Given the description of an element on the screen output the (x, y) to click on. 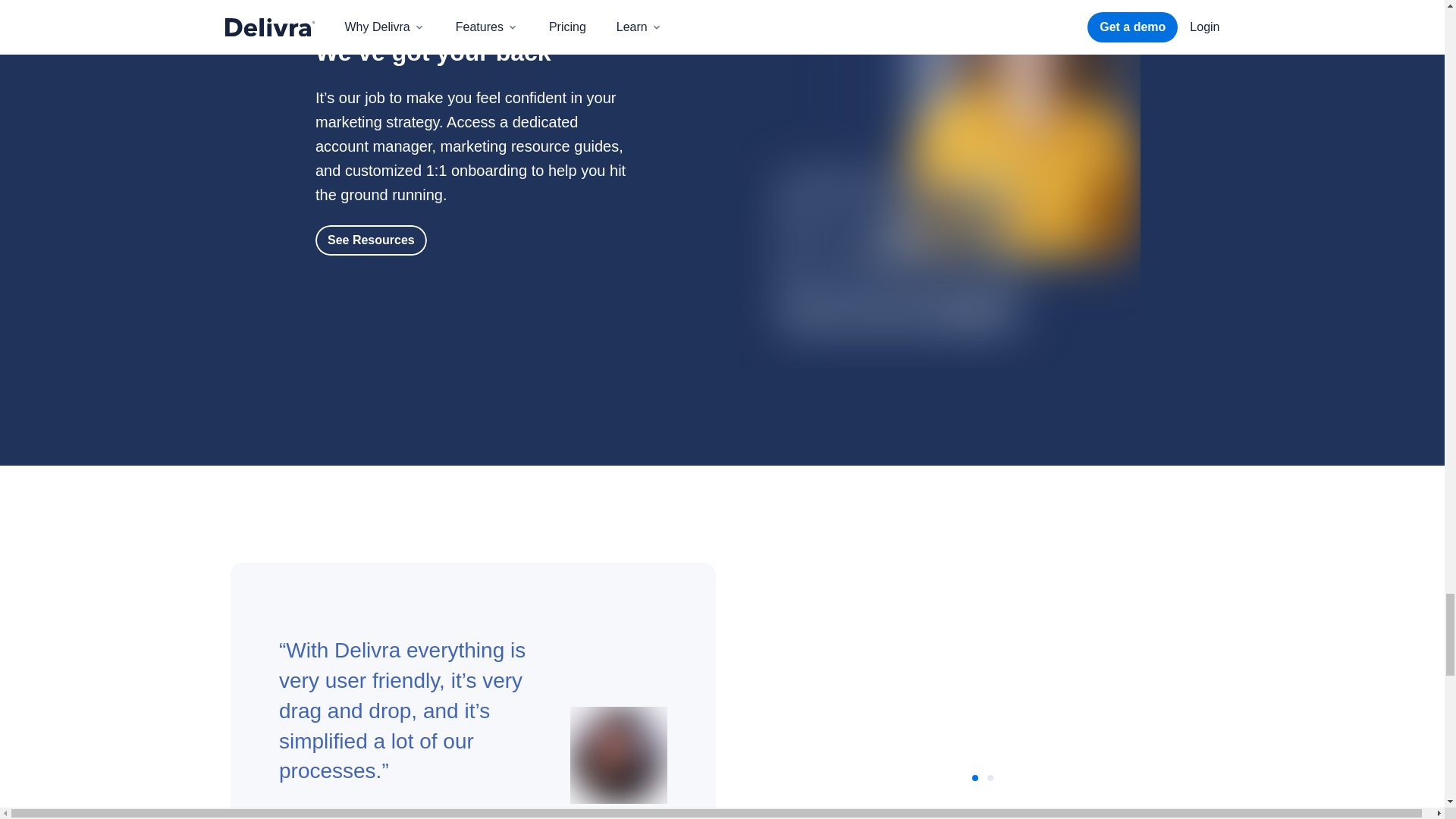
See Resources (370, 240)
